Given the description of an element on the screen output the (x, y) to click on. 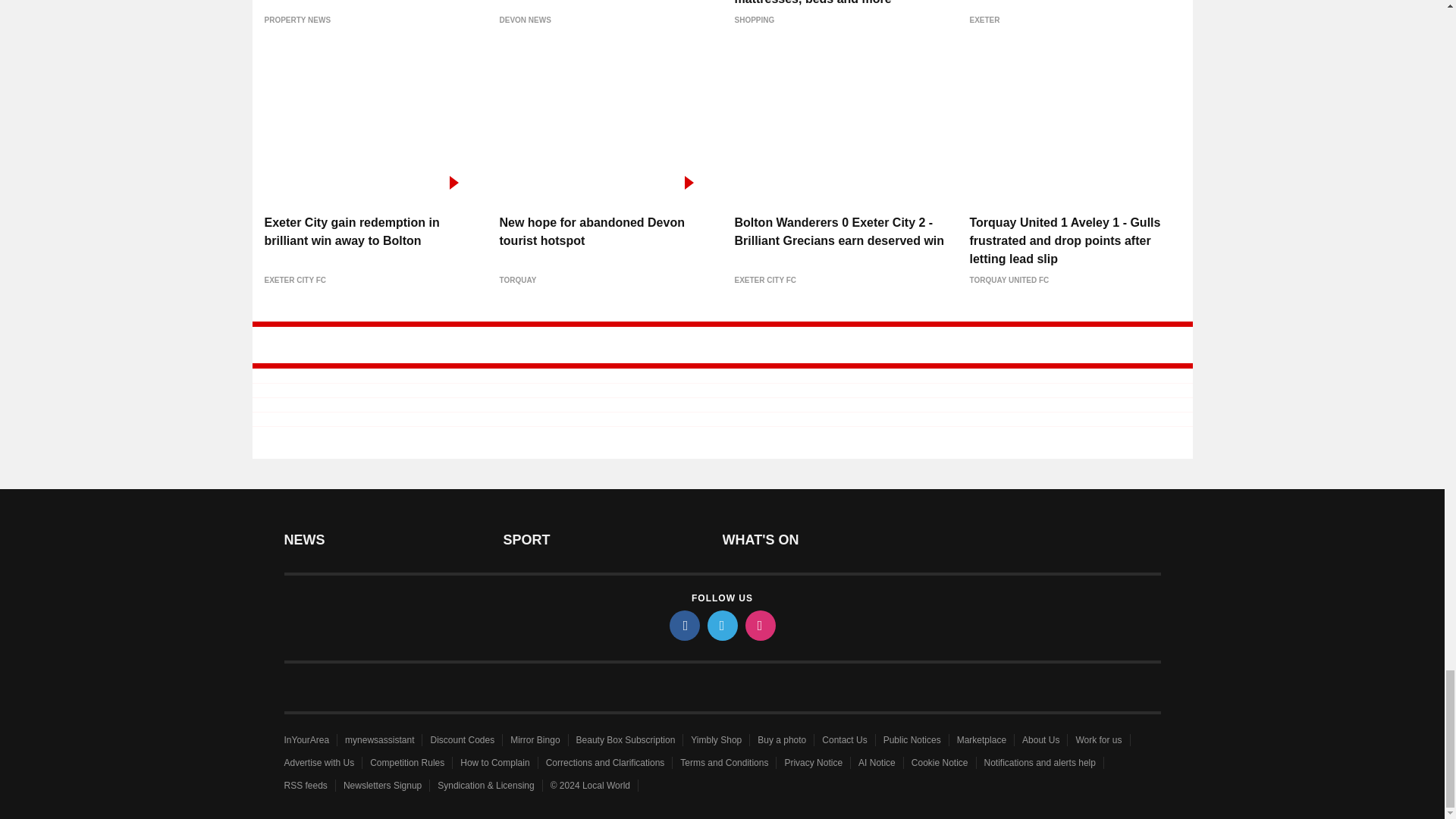
instagram (759, 625)
twitter (721, 625)
facebook (683, 625)
